Given the description of an element on the screen output the (x, y) to click on. 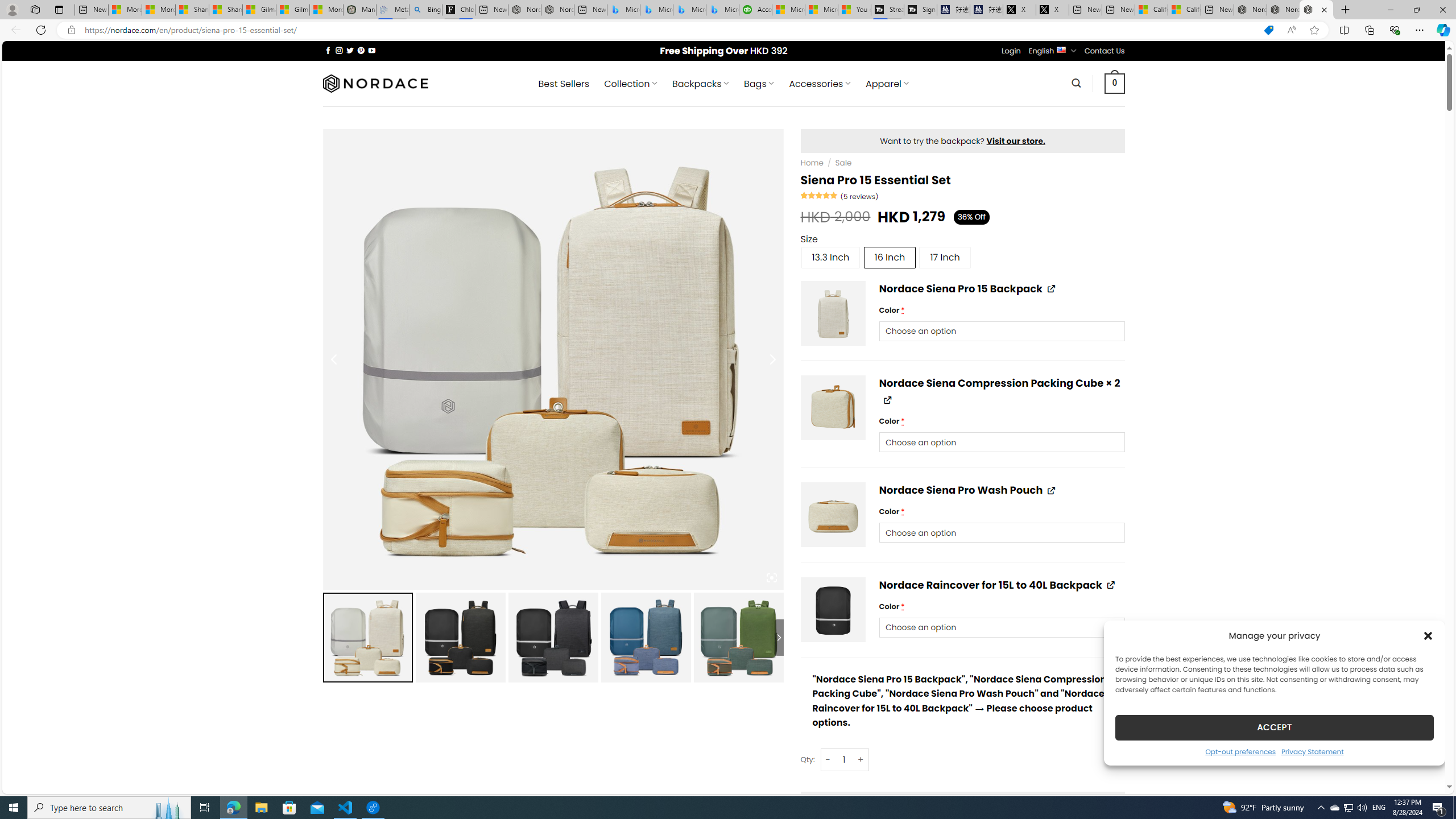
Siena Pro 15 Essential Set (738, 637)
6G8A1459 (833, 514)
ACCEPT (1274, 727)
Login (1010, 50)
View product (1110, 585)
